Given the description of an element on the screen output the (x, y) to click on. 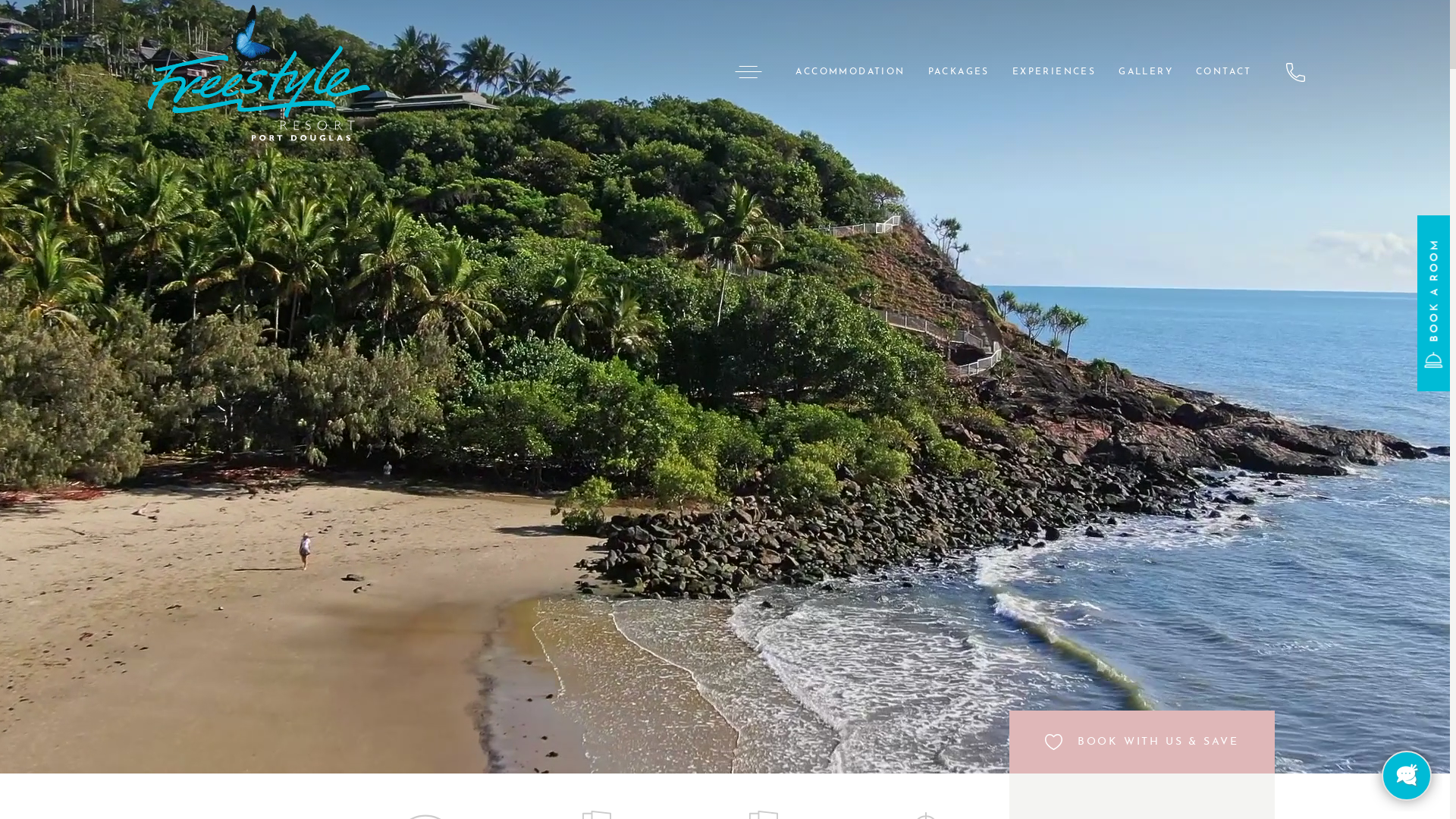
BOOK WITH US & SAVE Element type: text (1141, 741)
Call Us Element type: hover (1295, 71)
GALLERY Element type: text (1145, 72)
Freestyle Port Douglas Accommodation Element type: hover (258, 71)
PACKAGES Element type: text (958, 72)
EXPERIENCES Element type: text (1054, 72)
ACCOMMODATION Element type: text (850, 72)
CONTACT Element type: text (1223, 72)
